Given the description of an element on the screen output the (x, y) to click on. 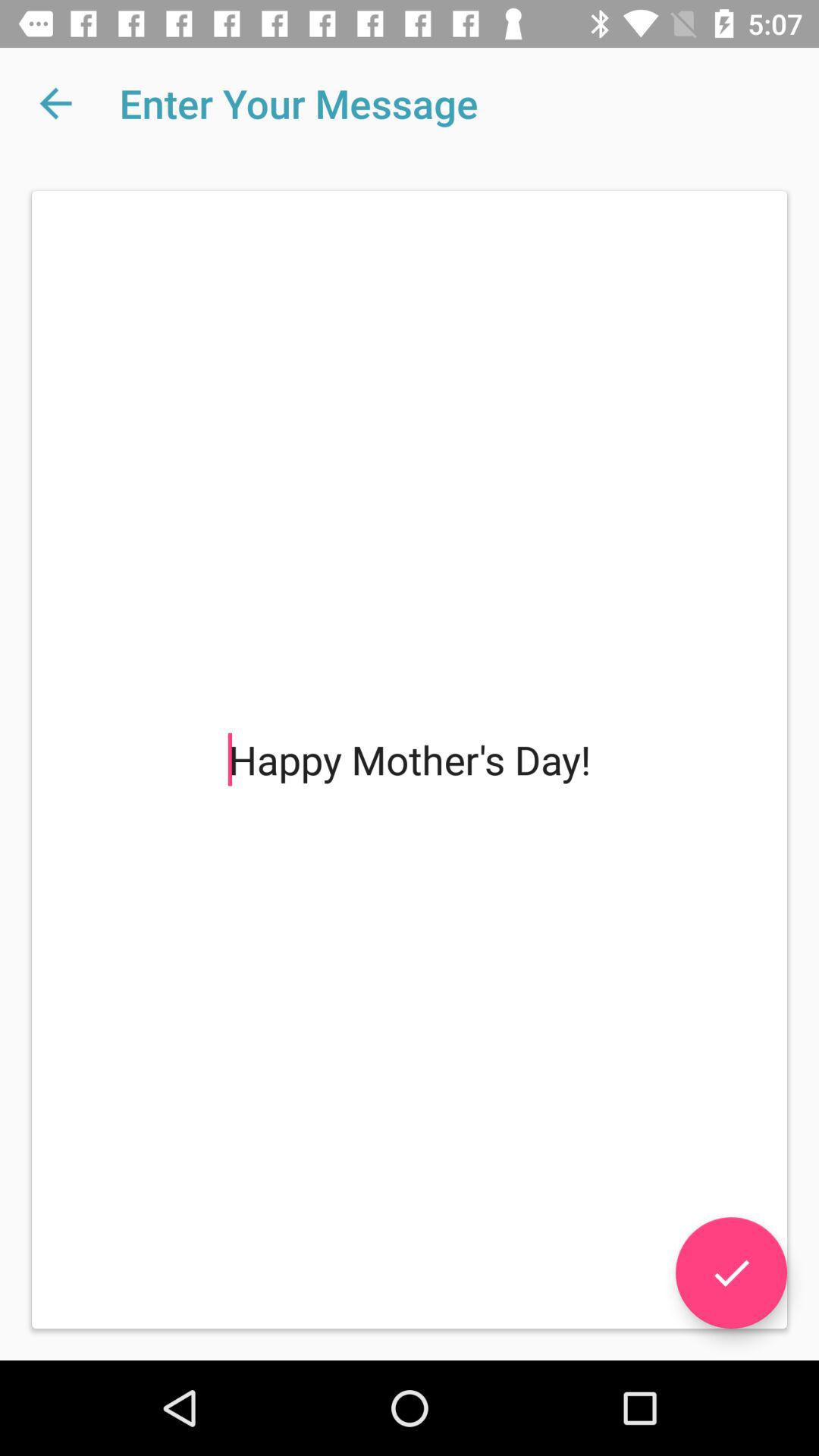
press the icon at the top left corner (55, 103)
